Given the description of an element on the screen output the (x, y) to click on. 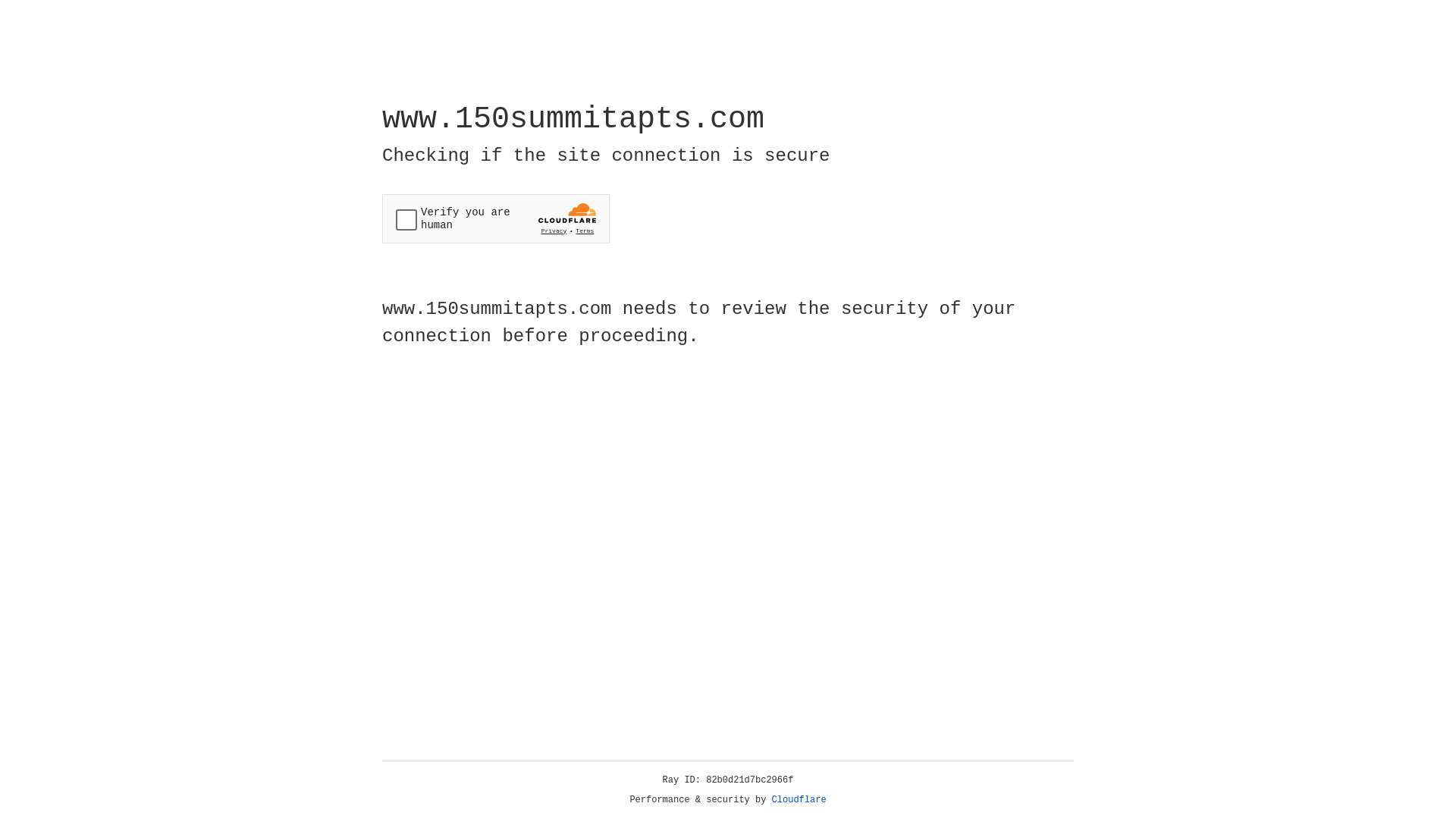
Widget containing a Cloudflare security challenge Element type: hover (495, 218)
Cloudflare Element type: text (798, 799)
